Given the description of an element on the screen output the (x, y) to click on. 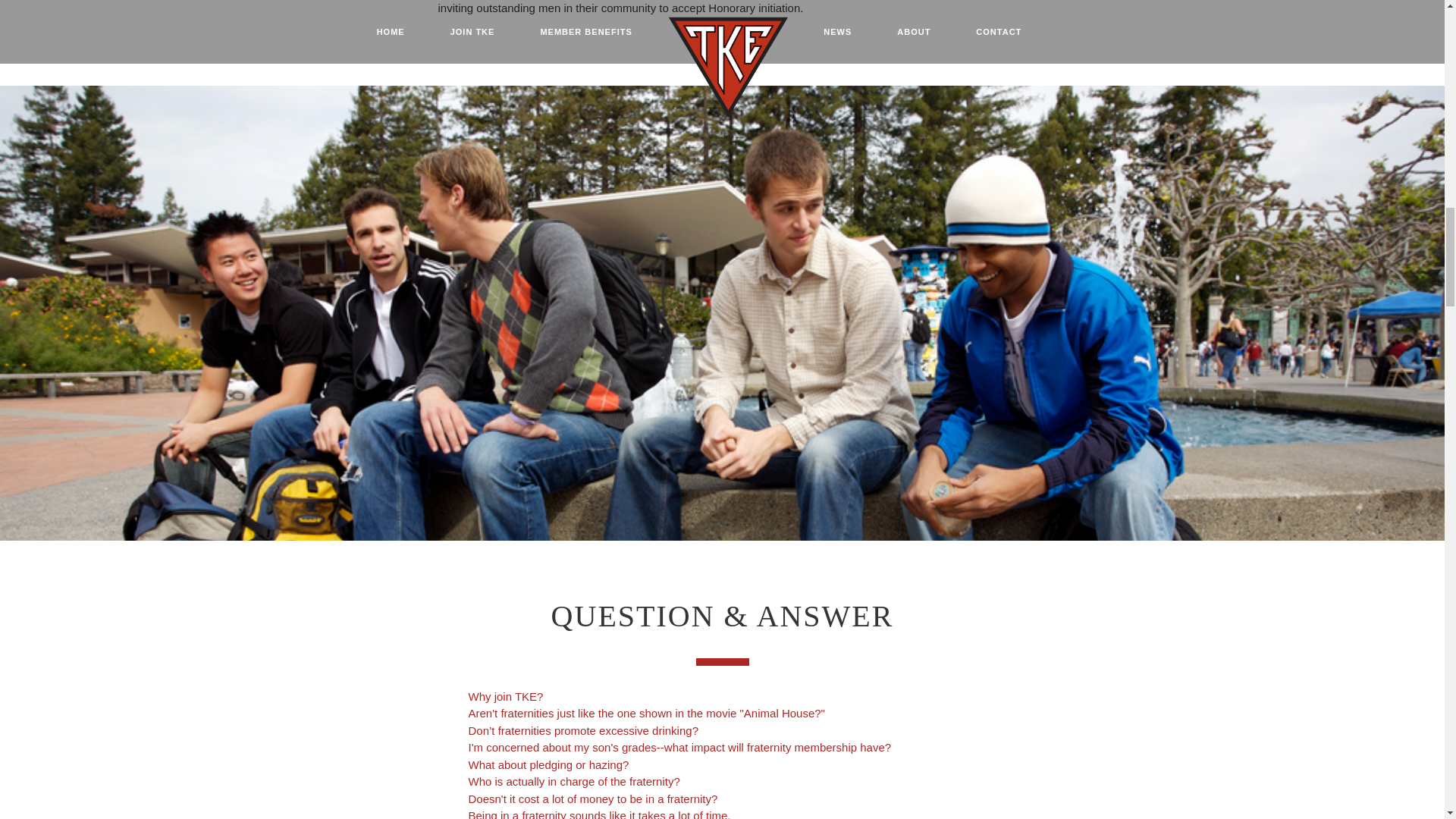
Who is actually in charge of the fraternity? (573, 780)
What about pledging or hazing? (548, 764)
Being in a fraternity sounds like it takes a lot of time. (599, 814)
Why join TKE? (505, 696)
Doesn't it cost a lot of money to be in a fraternity? (592, 797)
